Given the description of an element on the screen output the (x, y) to click on. 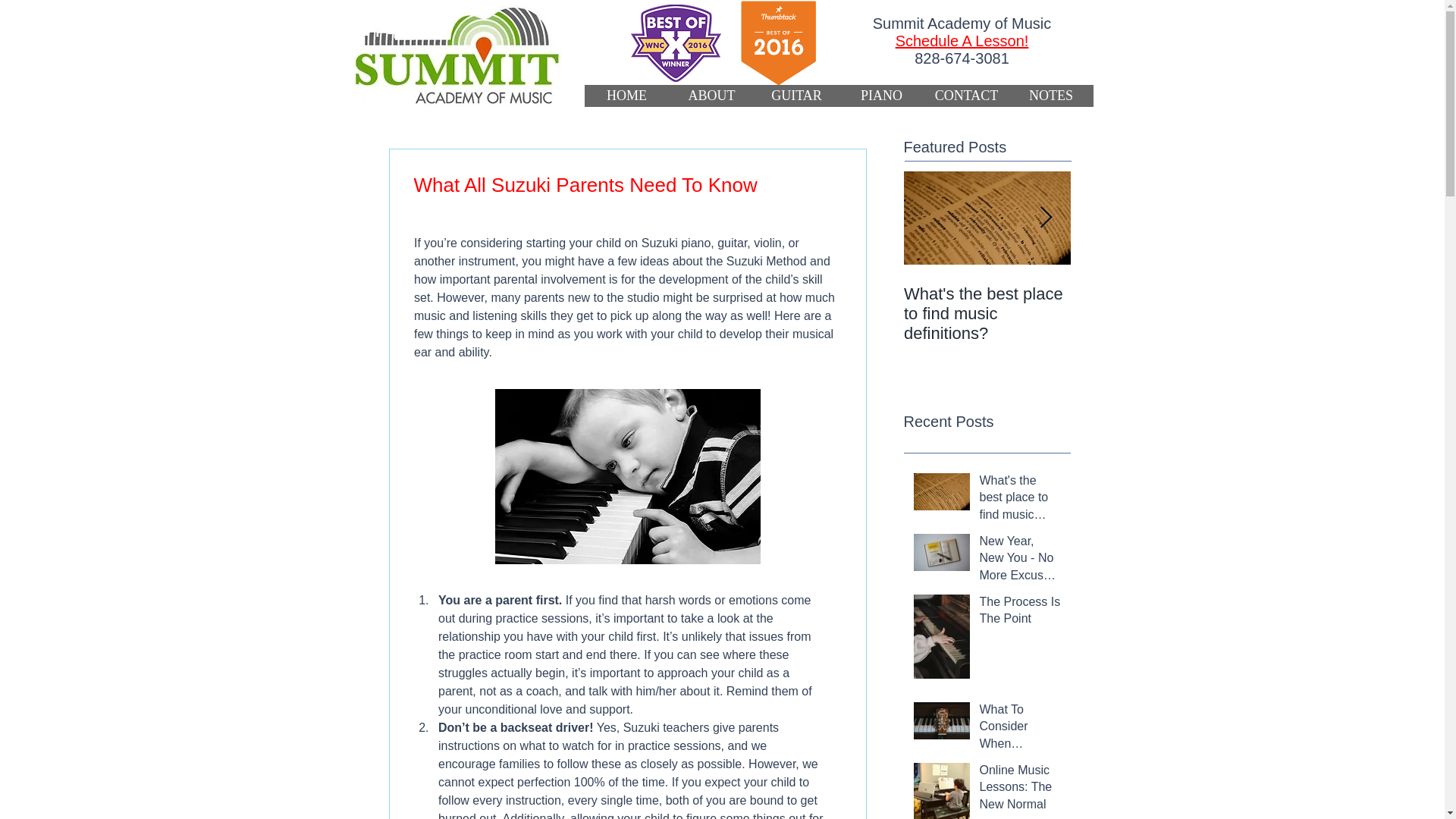
HOME (625, 96)
Summit Academy of Music (455, 55)
NOTES (1051, 96)
PIANO (880, 96)
GUITAR (796, 96)
CONTACT (966, 96)
Schedule A Lesson! (962, 40)
828-674-3081 (961, 57)
What's the best place to find music definitions? (1020, 500)
What's the best place to find music definitions? (987, 313)
